Given the description of an element on the screen output the (x, y) to click on. 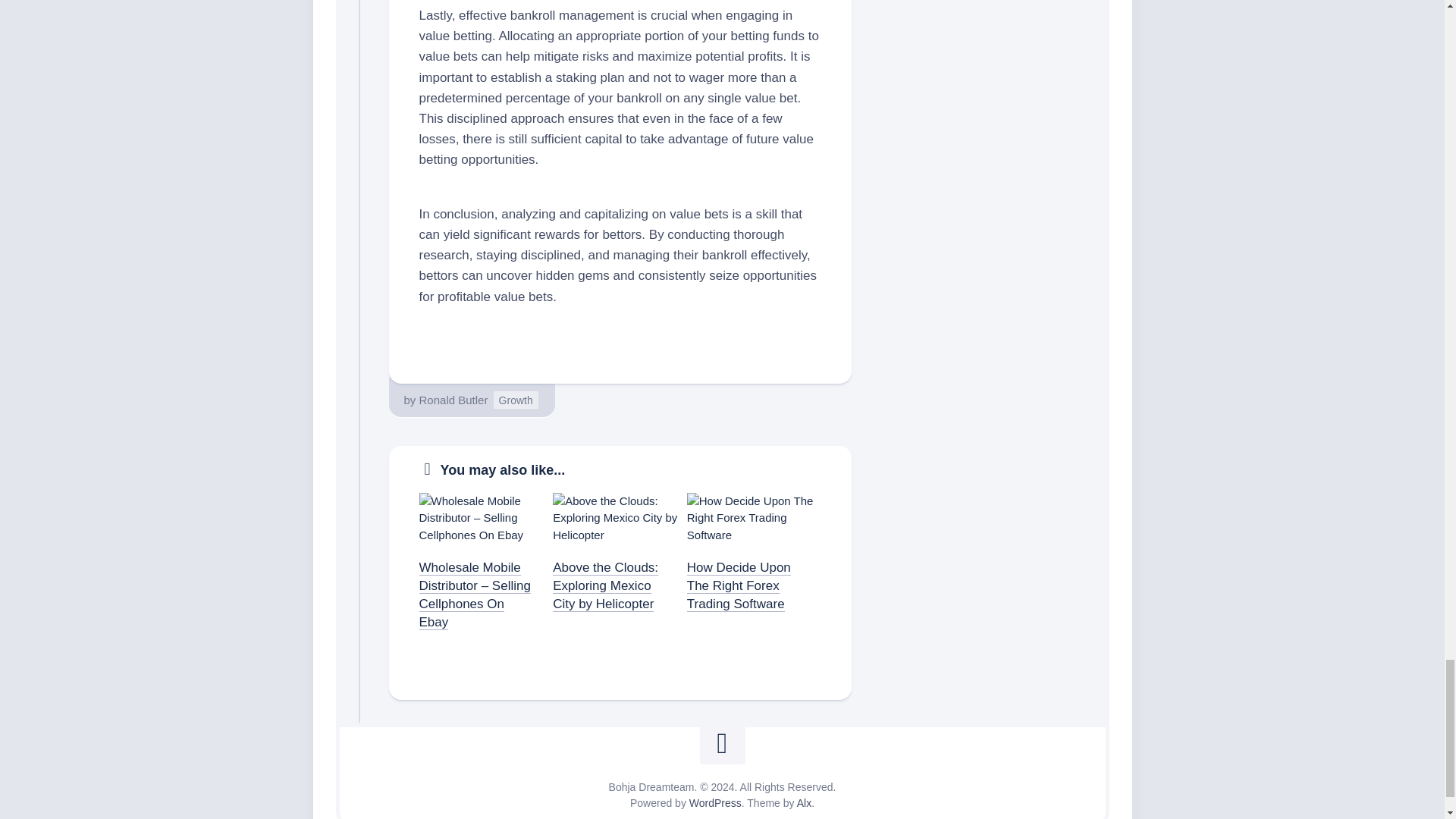
Ronald Butler (453, 399)
Above the Clouds: Exploring Mexico City by Helicopter (605, 585)
Alx (803, 802)
How Decide Upon The Right Forex Trading Software (738, 585)
Posts by Ronald Butler (453, 399)
WordPress (714, 802)
Growth (515, 400)
